Given the description of an element on the screen output the (x, y) to click on. 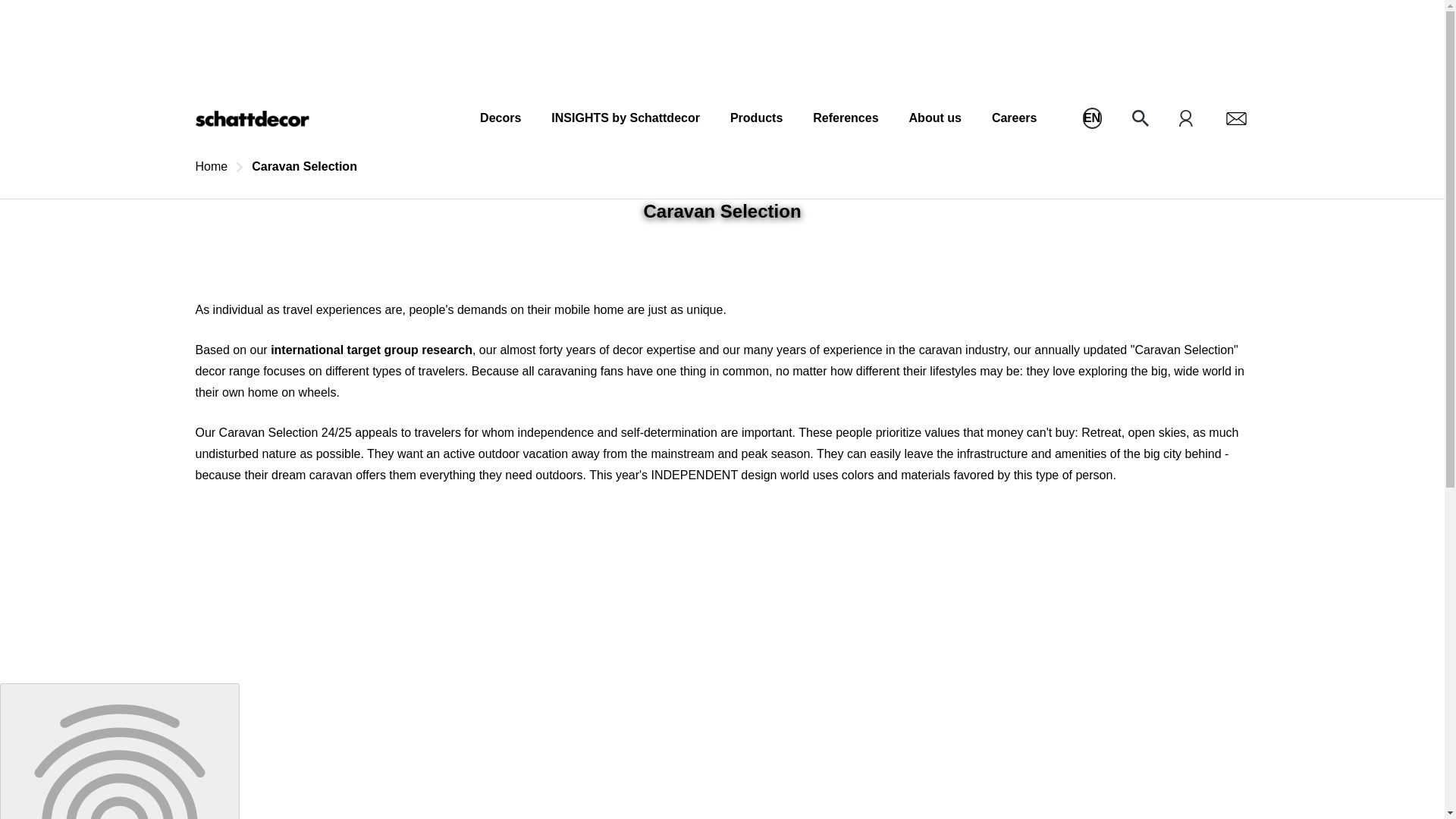
EN (1092, 117)
Go to homepage (251, 118)
Caravan Selection (303, 167)
Home (211, 167)
international target group research (370, 349)
INSIGHTS by Schattdecor (625, 118)
INSIGHTS by Schattdecor (625, 118)
